Given the description of an element on the screen output the (x, y) to click on. 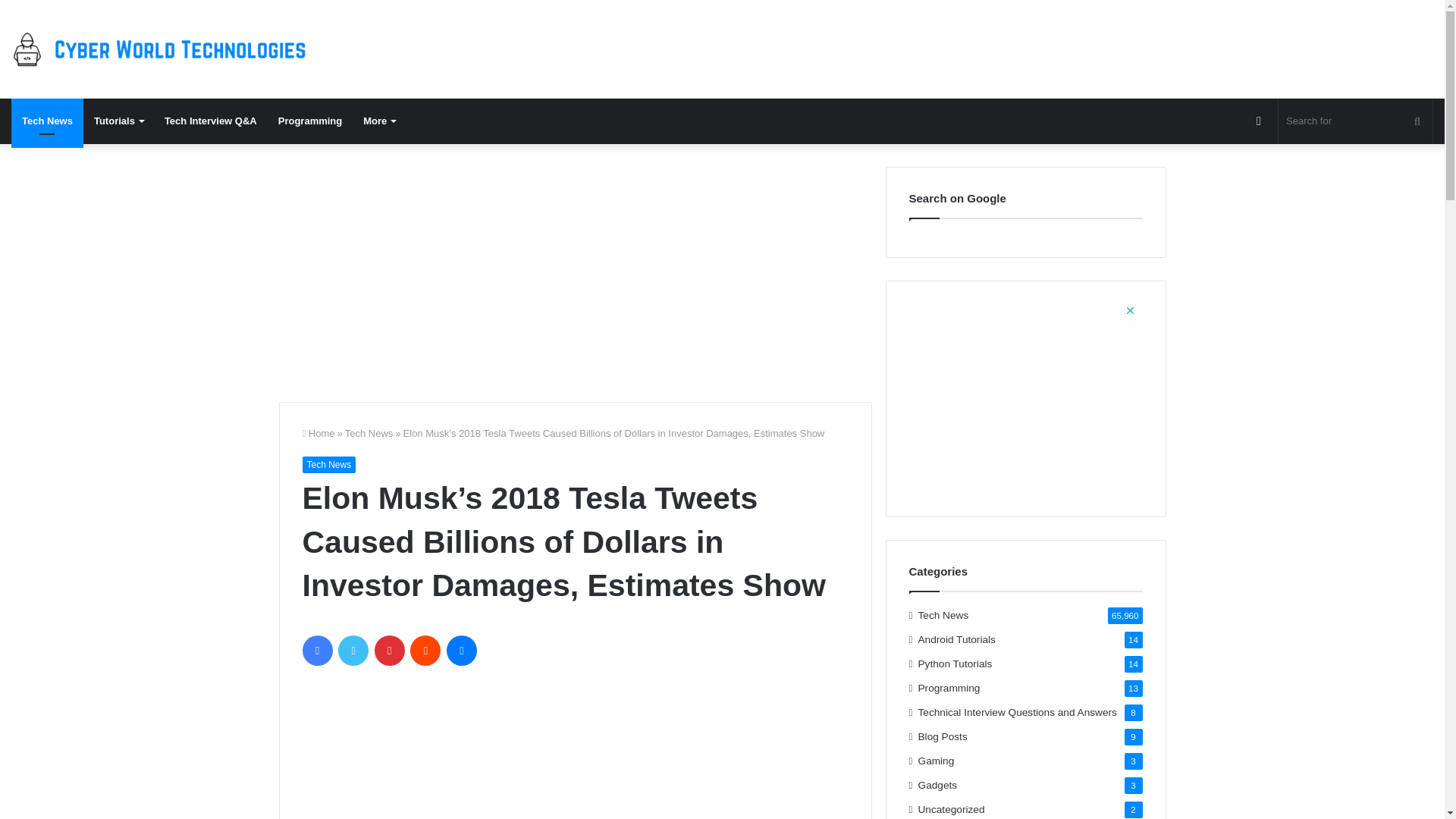
Tech News (46, 121)
Messenger (461, 650)
Tech News (328, 464)
Tutorials (118, 121)
Facebook (316, 650)
Reddit (425, 650)
More (379, 121)
Twitter (352, 650)
Reddit (425, 650)
Messenger (461, 650)
